Given the description of an element on the screen output the (x, y) to click on. 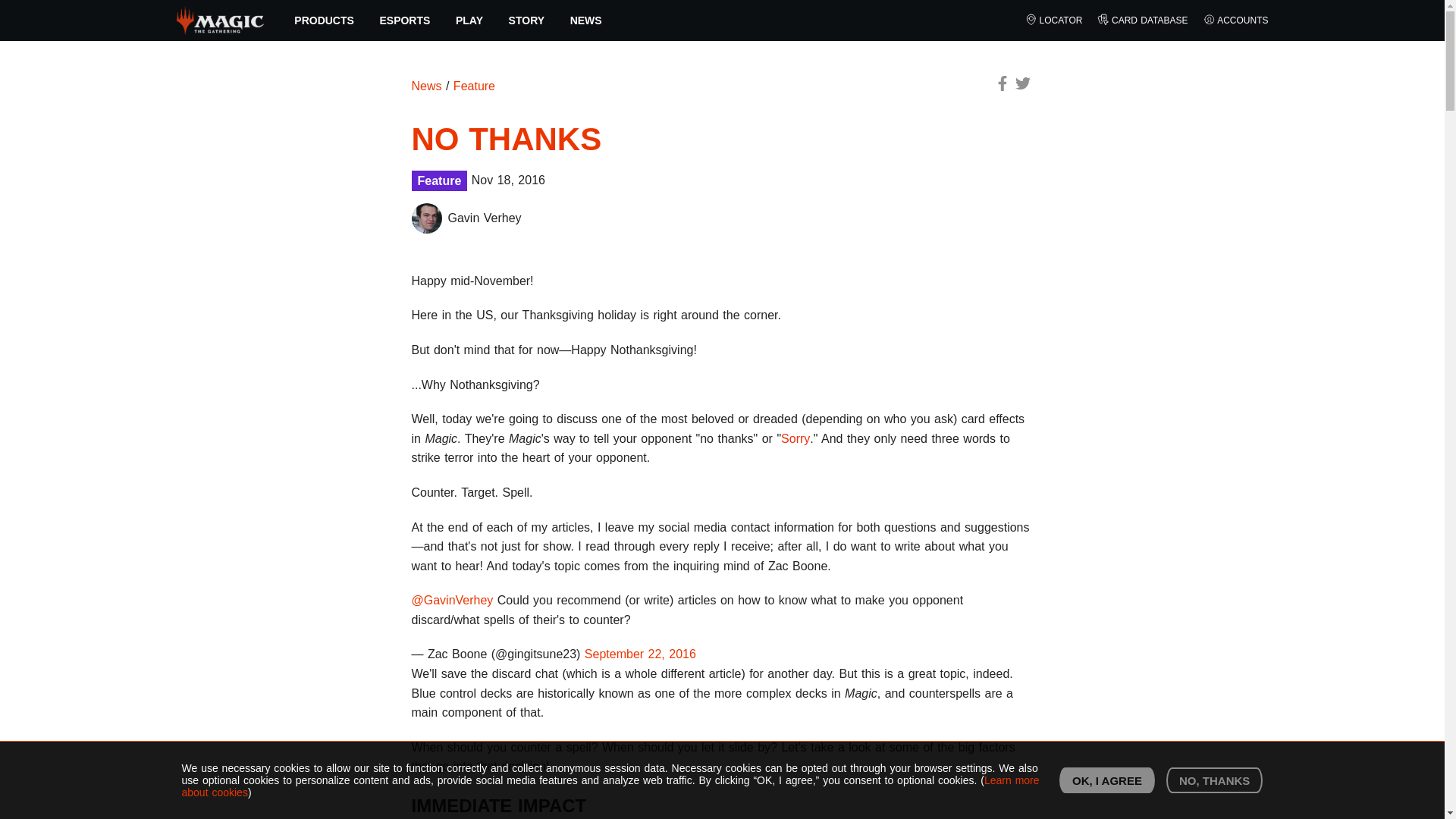
ESPORTS (405, 20)
PRODUCTS (324, 20)
PLAY (469, 20)
